Given the description of an element on the screen output the (x, y) to click on. 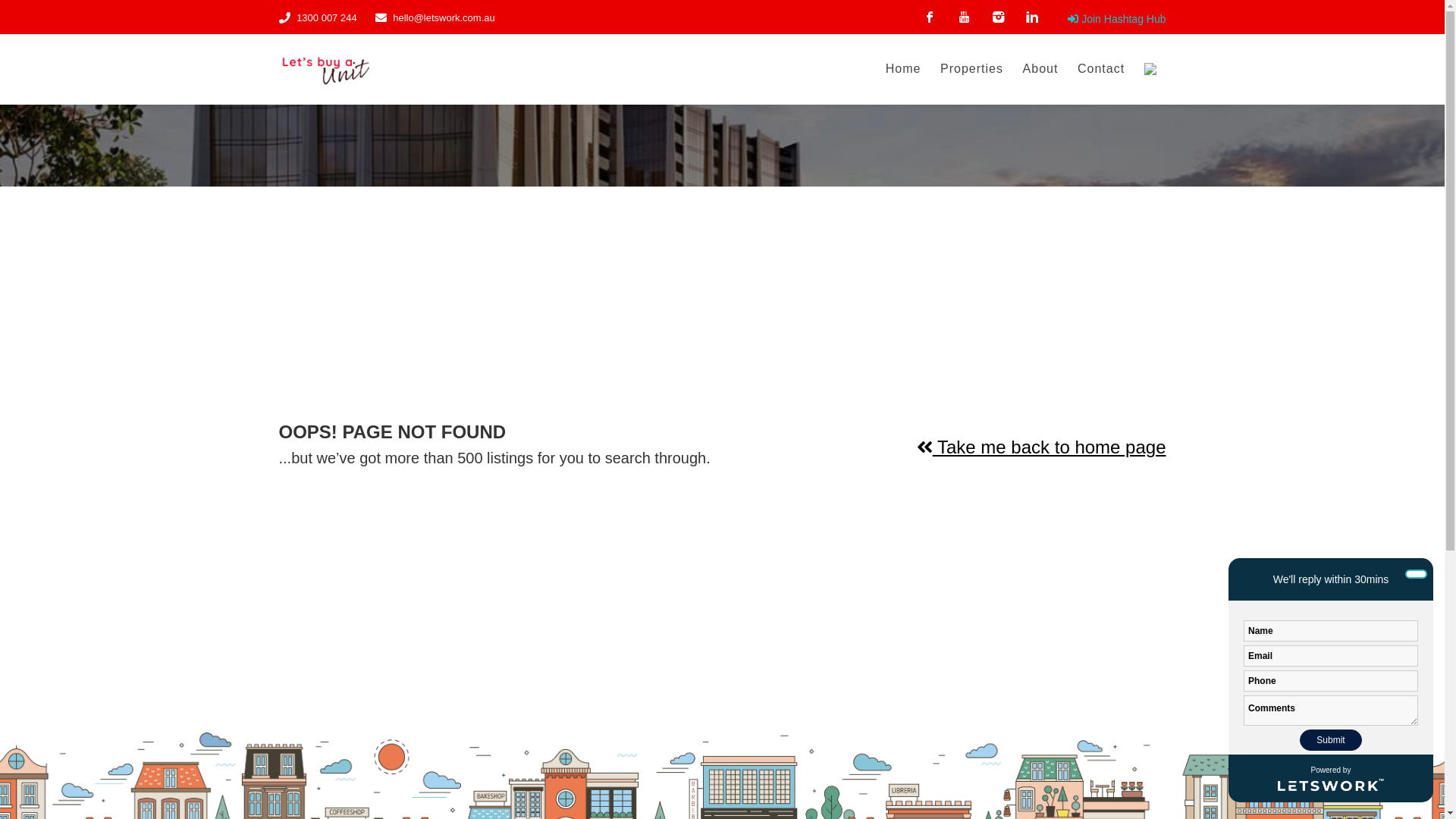
1300 007 244 Element type: text (326, 17)
Take me back to home page Element type: text (1041, 446)
Home Element type: text (903, 68)
hello@letswork.com.au Element type: text (443, 17)
Submit Element type: text (1330, 740)
Contact Element type: text (1100, 68)
About Element type: text (1040, 68)
Join Hashtag Hub Element type: text (1107, 16)
Properties Element type: text (971, 68)
